Given the description of an element on the screen output the (x, y) to click on. 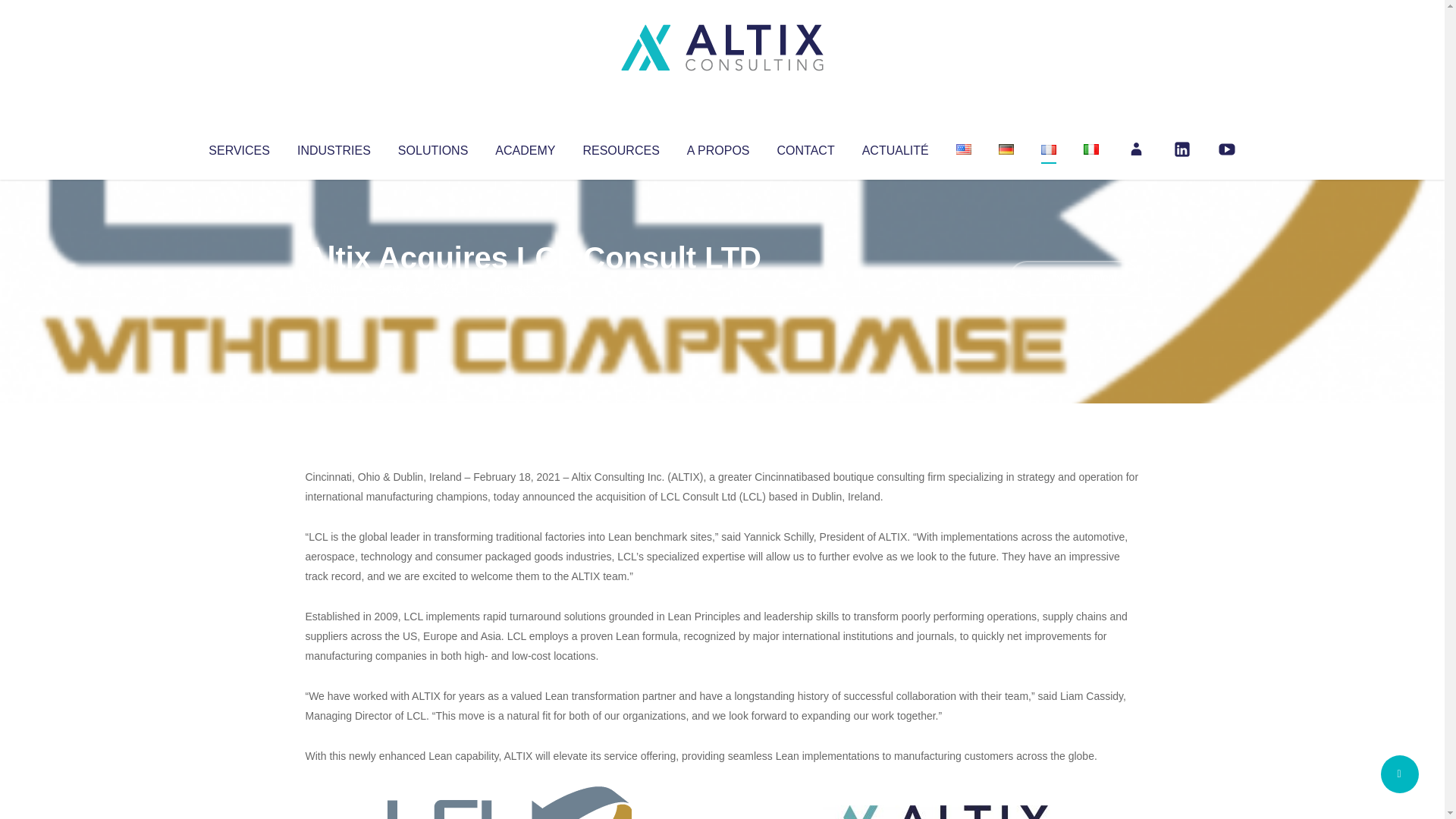
SERVICES (238, 146)
ACADEMY (524, 146)
Altix (333, 287)
A PROPOS (718, 146)
Uncategorized (530, 287)
SOLUTIONS (432, 146)
Articles par Altix (333, 287)
INDUSTRIES (334, 146)
No Comments (1073, 278)
RESOURCES (620, 146)
